Given the description of an element on the screen output the (x, y) to click on. 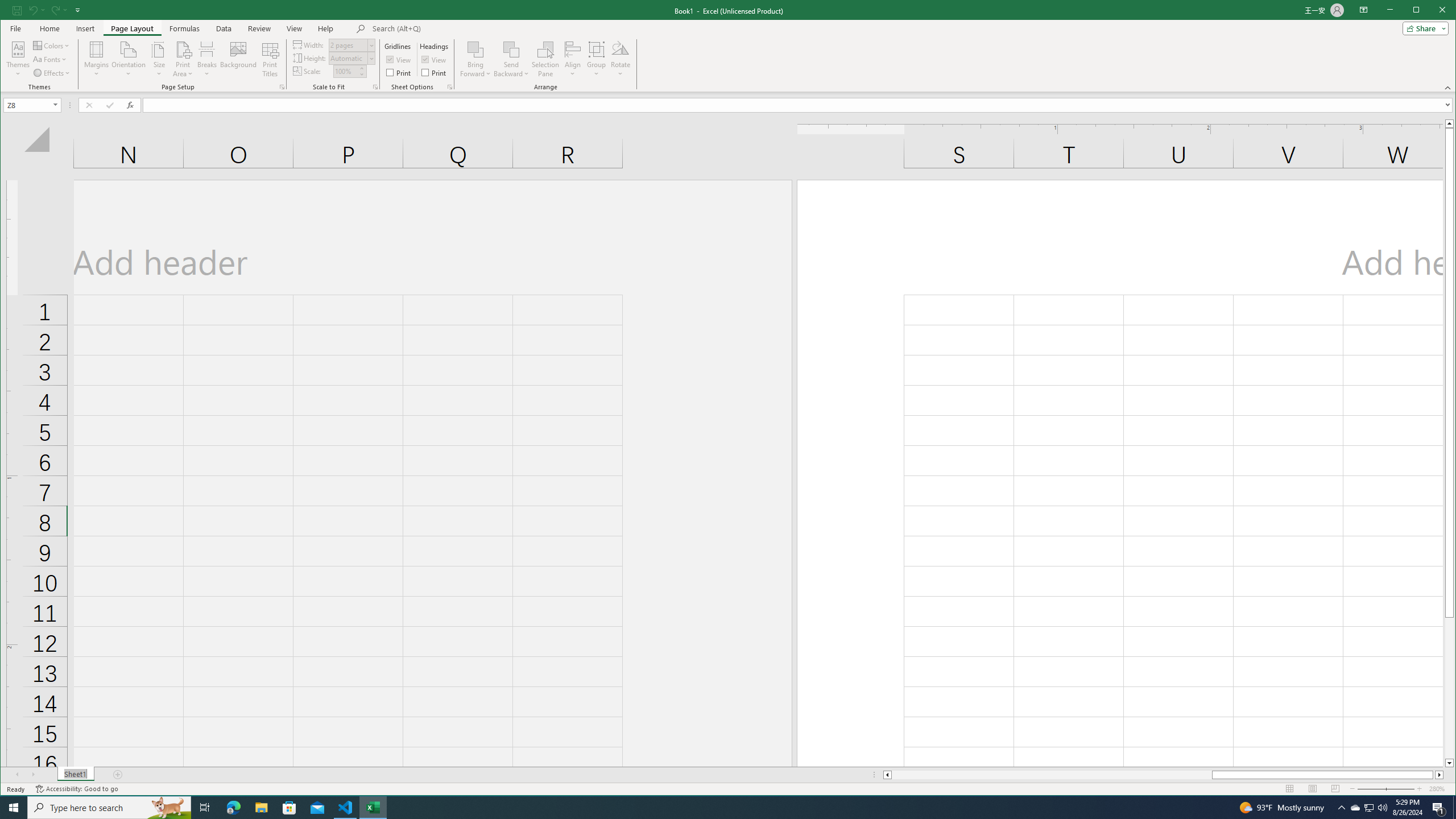
Orientation (128, 59)
Sheet Tab (75, 774)
Print Area (183, 59)
Less (361, 73)
